Given the description of an element on the screen output the (x, y) to click on. 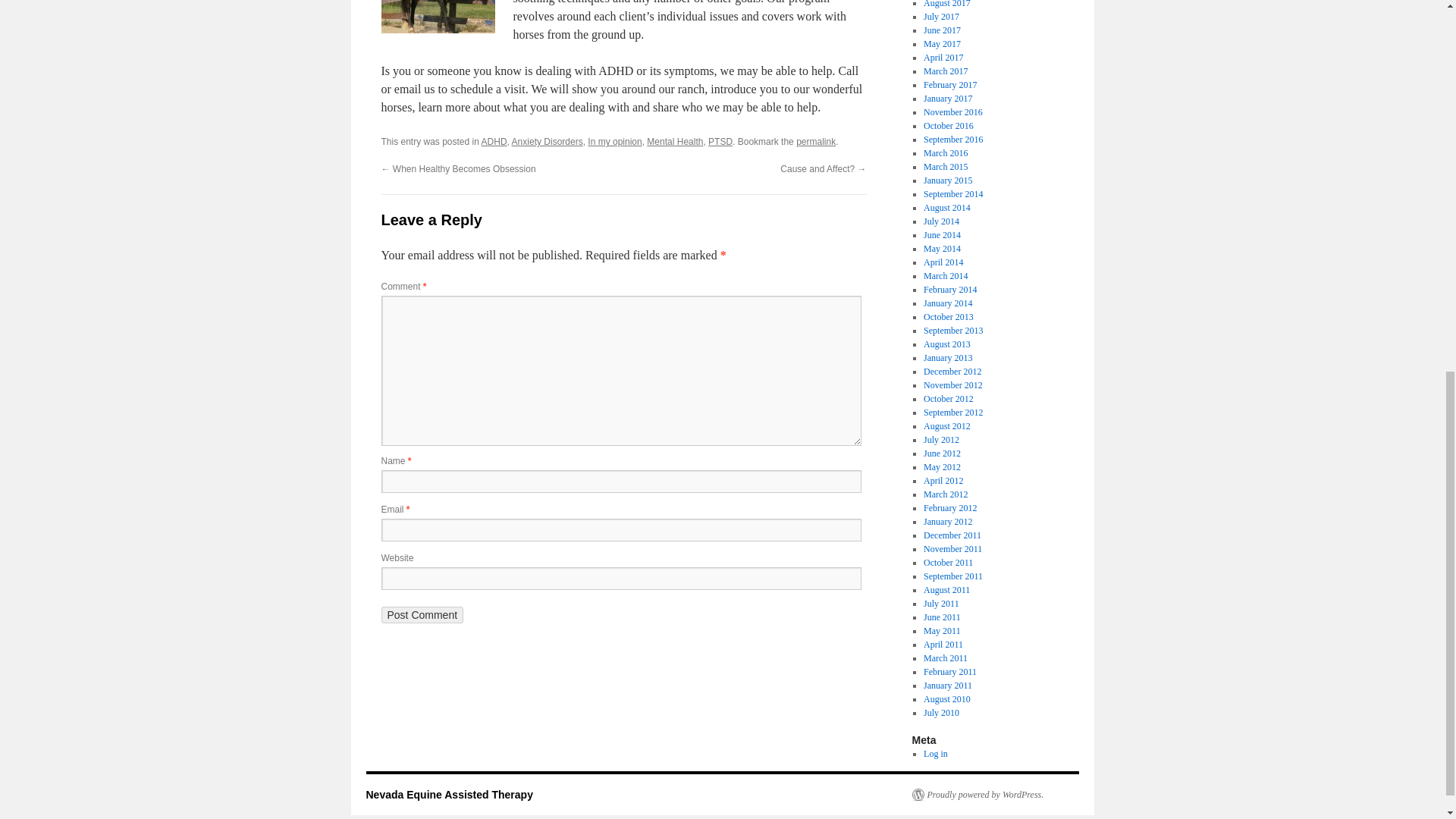
Permalink to A Link Between Childhood Abuse and Adult ADHD (815, 141)
Mental Health (674, 141)
Semantic Personal Publishing Platform (977, 794)
Anxiety Disorders (547, 141)
Post Comment (421, 614)
In my opinion (615, 141)
ADHD (493, 141)
permalink (815, 141)
PTSD (719, 141)
Nevada Equine Assisted Therapy (448, 794)
